Given the description of an element on the screen output the (x, y) to click on. 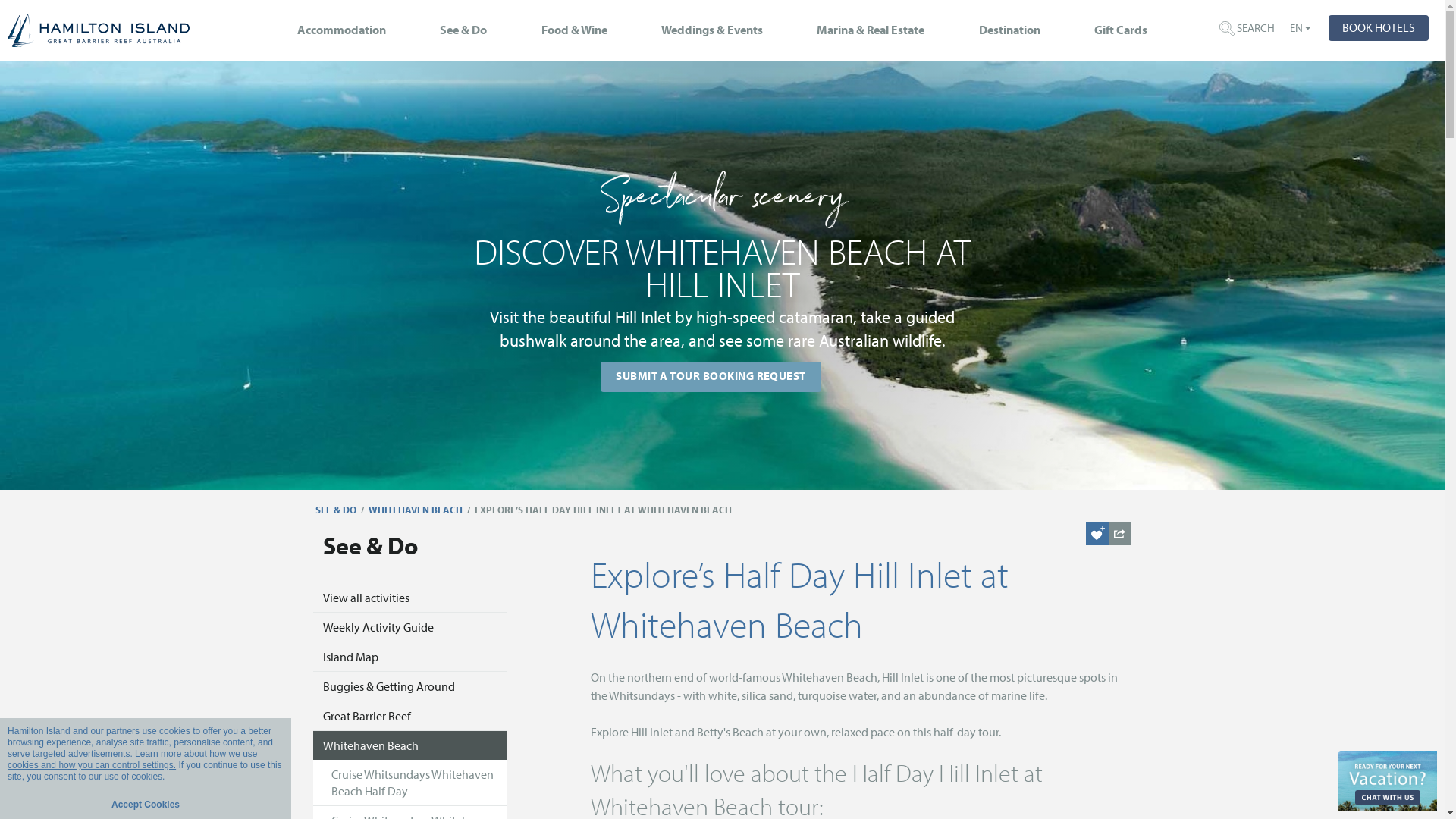
View all activities Element type: text (408, 597)
WHITEHAVEN BEACH Element type: text (415, 509)
SEARCH Element type: text (1246, 28)
Great Barrier Reef Element type: text (408, 716)
Whitehaven Beach Element type: text (408, 745)
EN Element type: text (1297, 27)
Marina & Real Estate Element type: text (870, 34)
Gift Cards Element type: text (1120, 34)
SEE & DO Element type: text (335, 509)
Accommodation Element type: text (341, 34)
Cruise Whitsundays Whitehaven Beach Half Day Element type: text (408, 782)
Island Map Element type: text (408, 656)
Weddings & Events Element type: text (711, 34)
See & Do Element type: text (408, 553)
SUBMIT A TOUR BOOKING REQUEST Element type: text (710, 376)
Buggies & Getting Around Element type: text (408, 686)
Destination Element type: text (1009, 34)
Food & Wine Element type: text (574, 34)
Weekly Activity Guide Element type: text (408, 627)
BOOK HOTELS Element type: text (1378, 27)
See & Do Element type: text (463, 34)
